Given the description of an element on the screen output the (x, y) to click on. 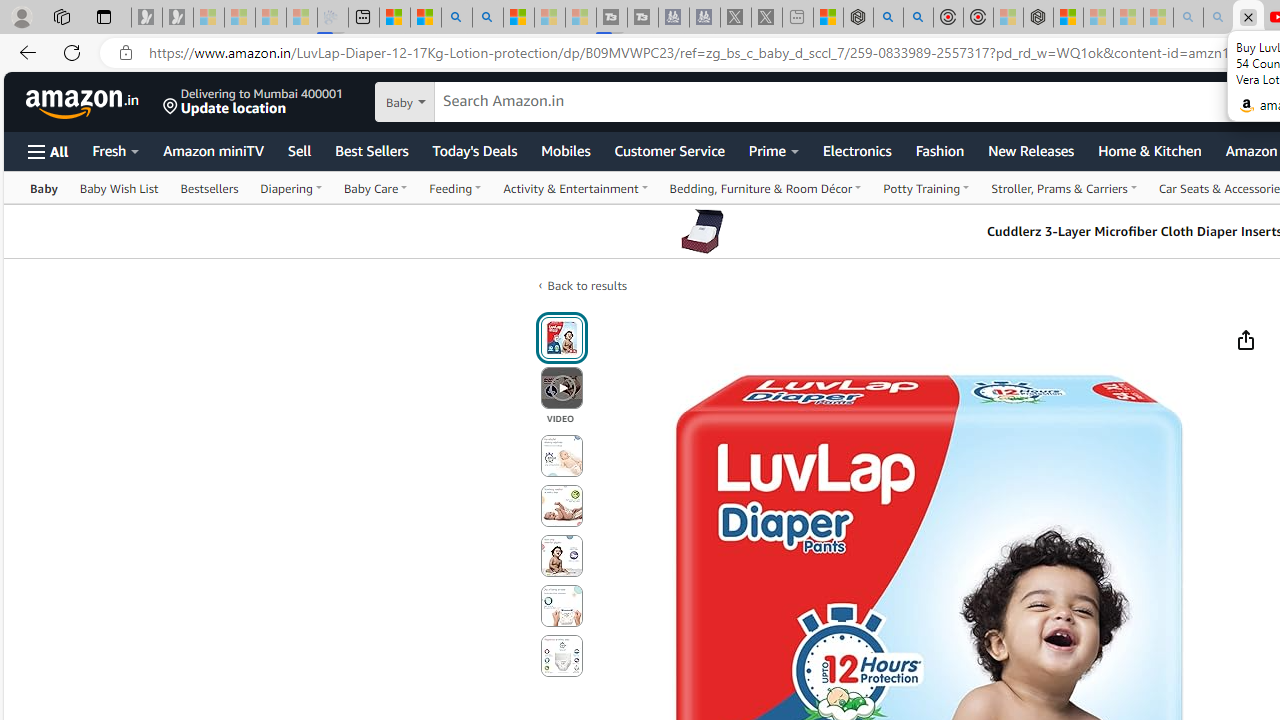
amazon - Search - Sleeping (1188, 17)
